Given the description of an element on the screen output the (x, y) to click on. 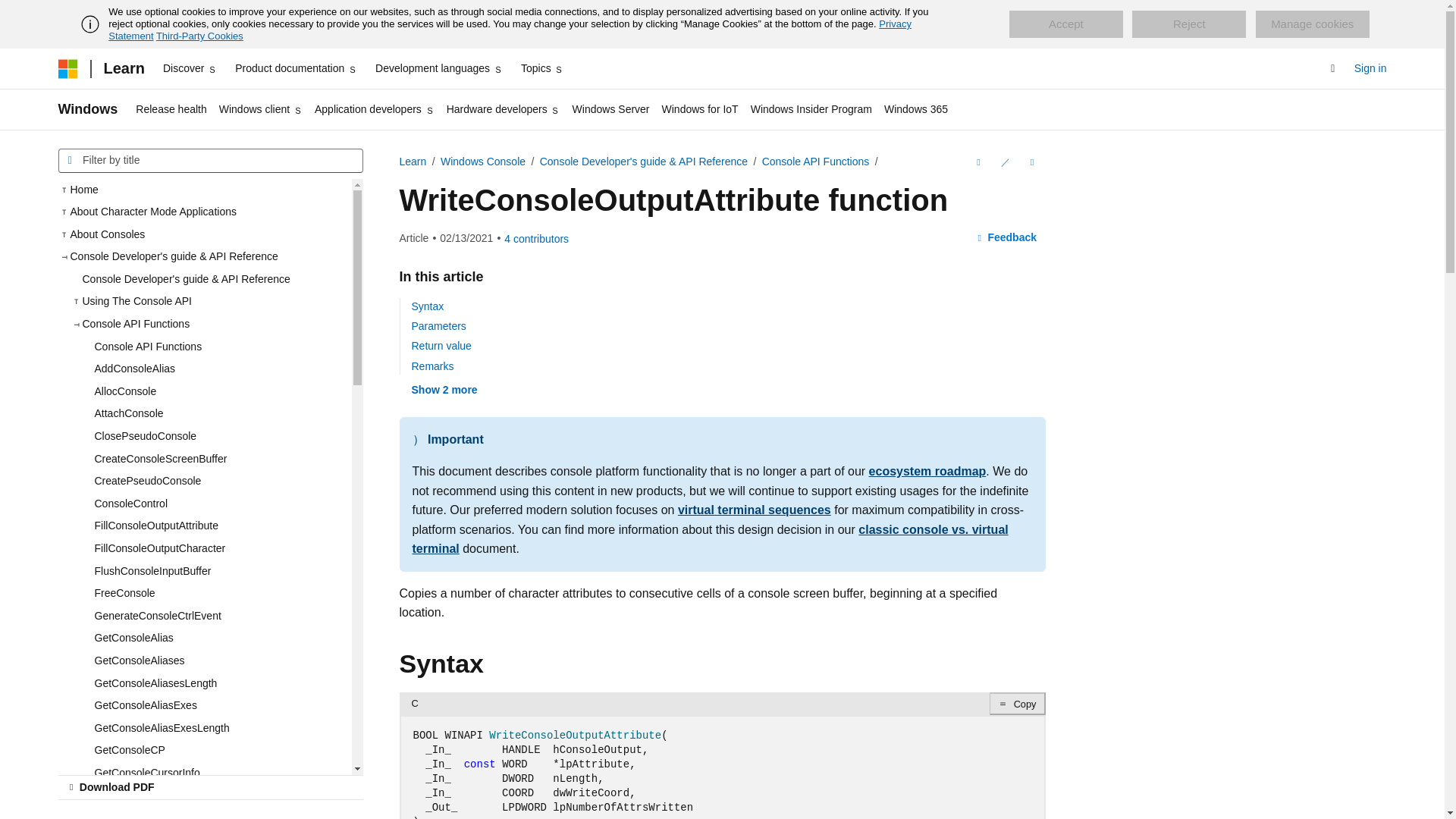
Development languages (438, 68)
Topics (542, 68)
Third-Party Cookies (199, 35)
Privacy Statement (509, 29)
Reject (1189, 23)
Release health (170, 109)
View all contributors (536, 238)
Sign in (1370, 68)
Edit This Document (1004, 161)
Discover (189, 68)
